Given the description of an element on the screen output the (x, y) to click on. 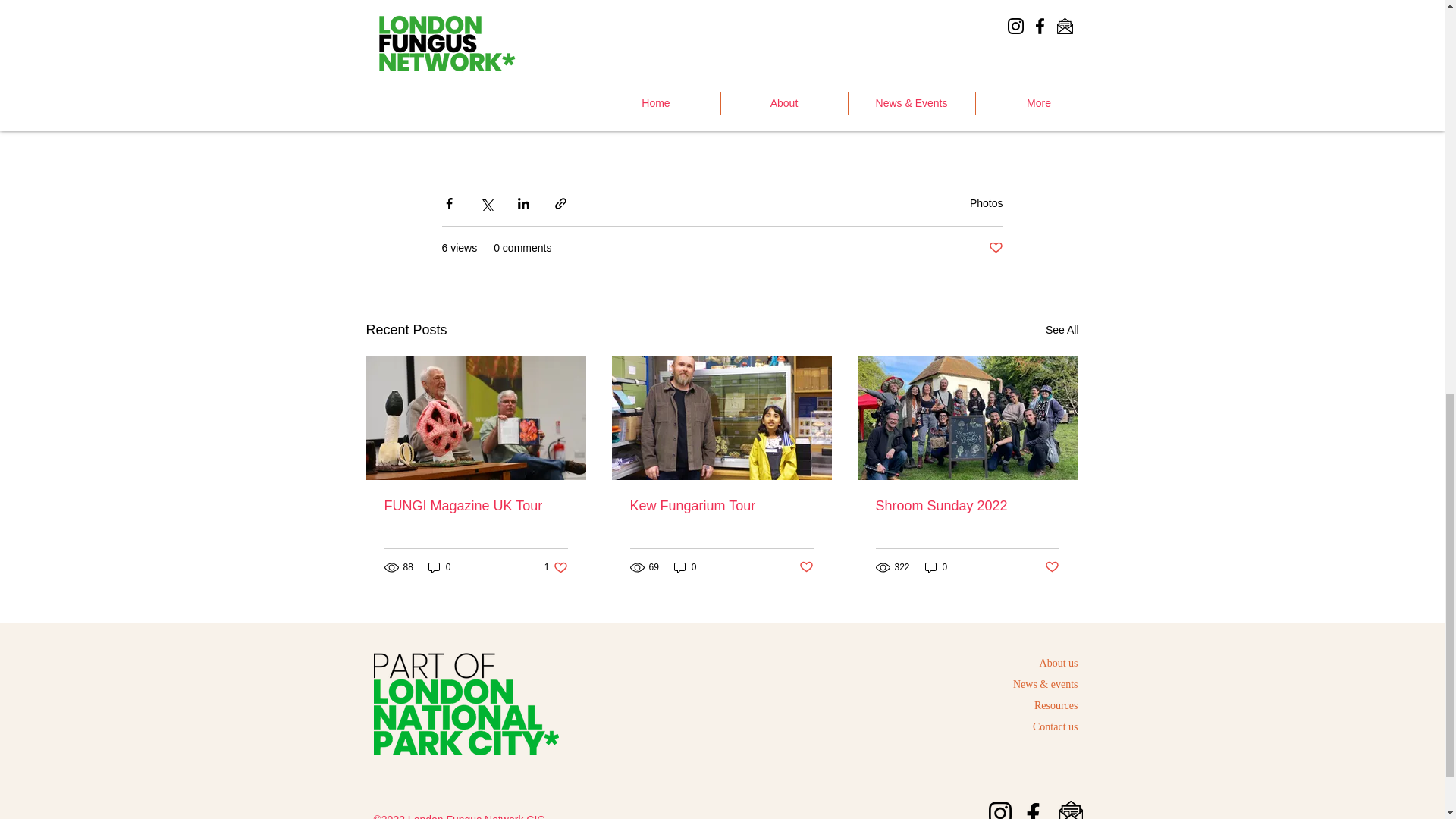
Post not marked as liked (995, 248)
0 (936, 567)
Photos (986, 203)
Kew Fungarium Tour (720, 505)
Shroom Sunday 2022 (966, 505)
Post not marked as liked (806, 567)
0 (439, 567)
FUNGI Magazine UK Tour (475, 505)
0 (685, 567)
See All (1061, 330)
